Given the description of an element on the screen output the (x, y) to click on. 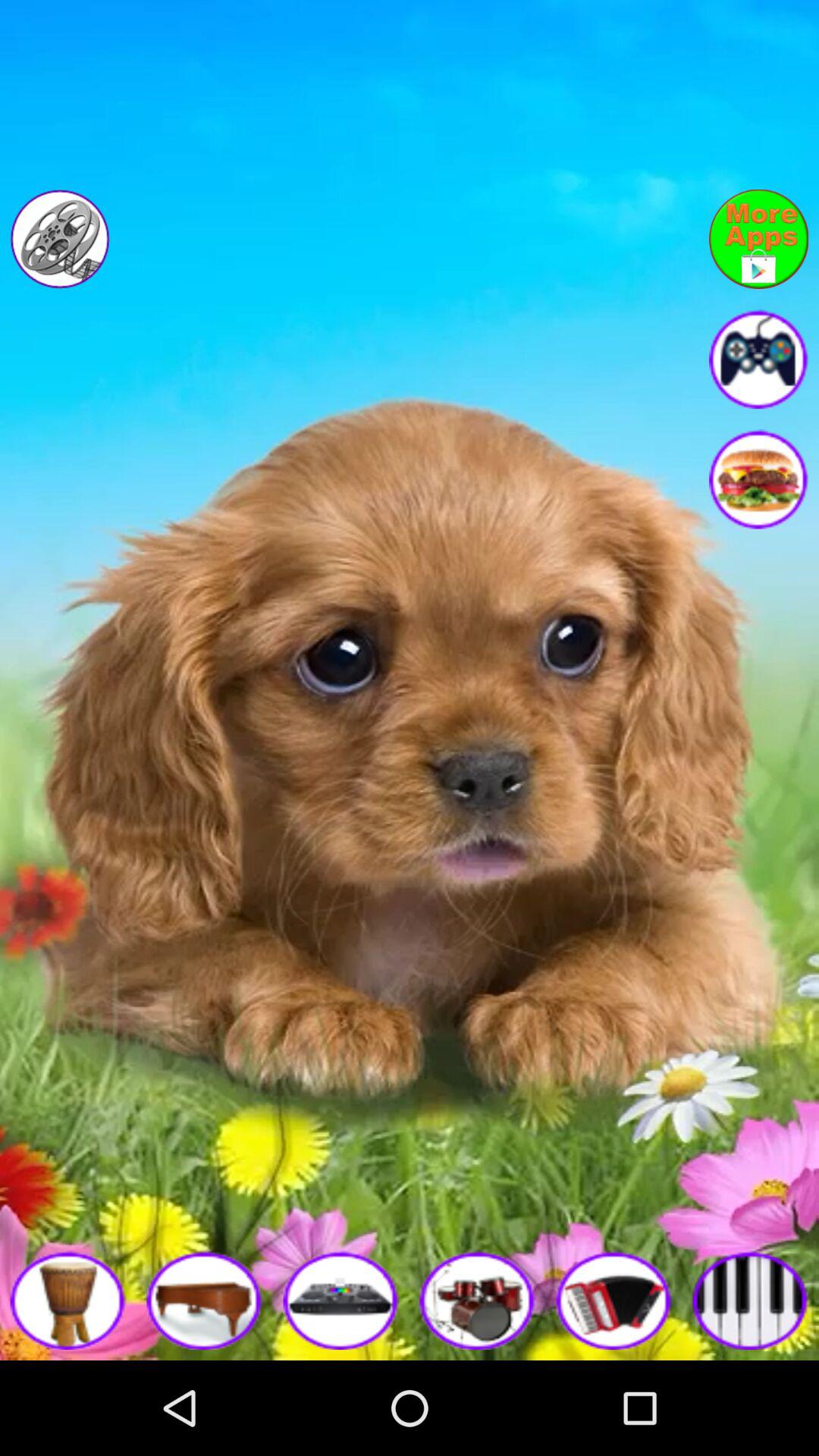
play music (614, 1300)
